Given the description of an element on the screen output the (x, y) to click on. 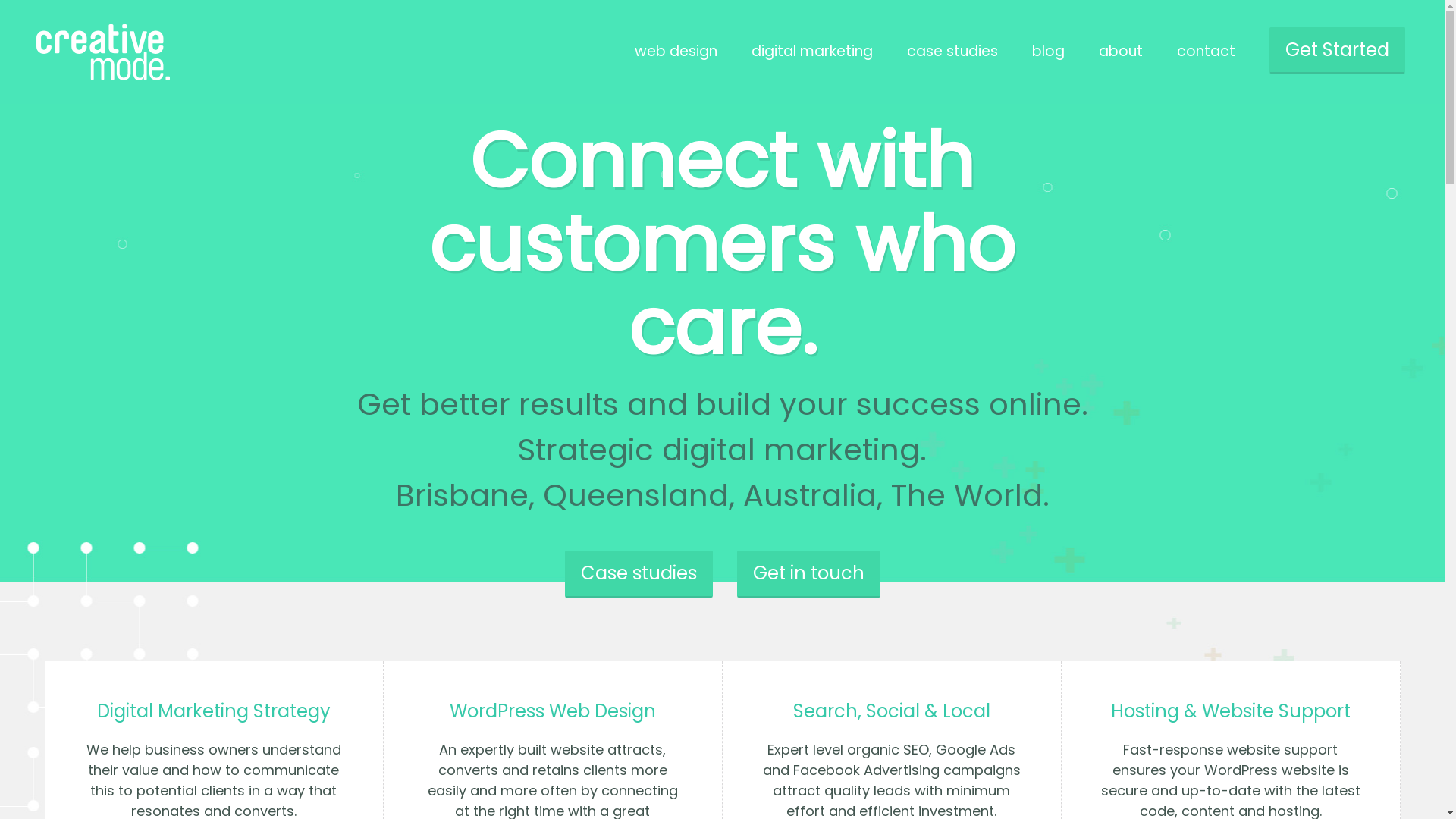
Case studies Element type: text (638, 573)
digital marketing Element type: text (811, 50)
about Element type: text (1120, 50)
Get in touch Element type: text (808, 573)
blog Element type: text (1048, 50)
Creative Mode Brisbane website home page Element type: hover (96, 75)
case studies Element type: text (951, 50)
Get Started Element type: text (1337, 50)
web design Element type: text (675, 50)
contact Element type: text (1205, 50)
